Given the description of an element on the screen output the (x, y) to click on. 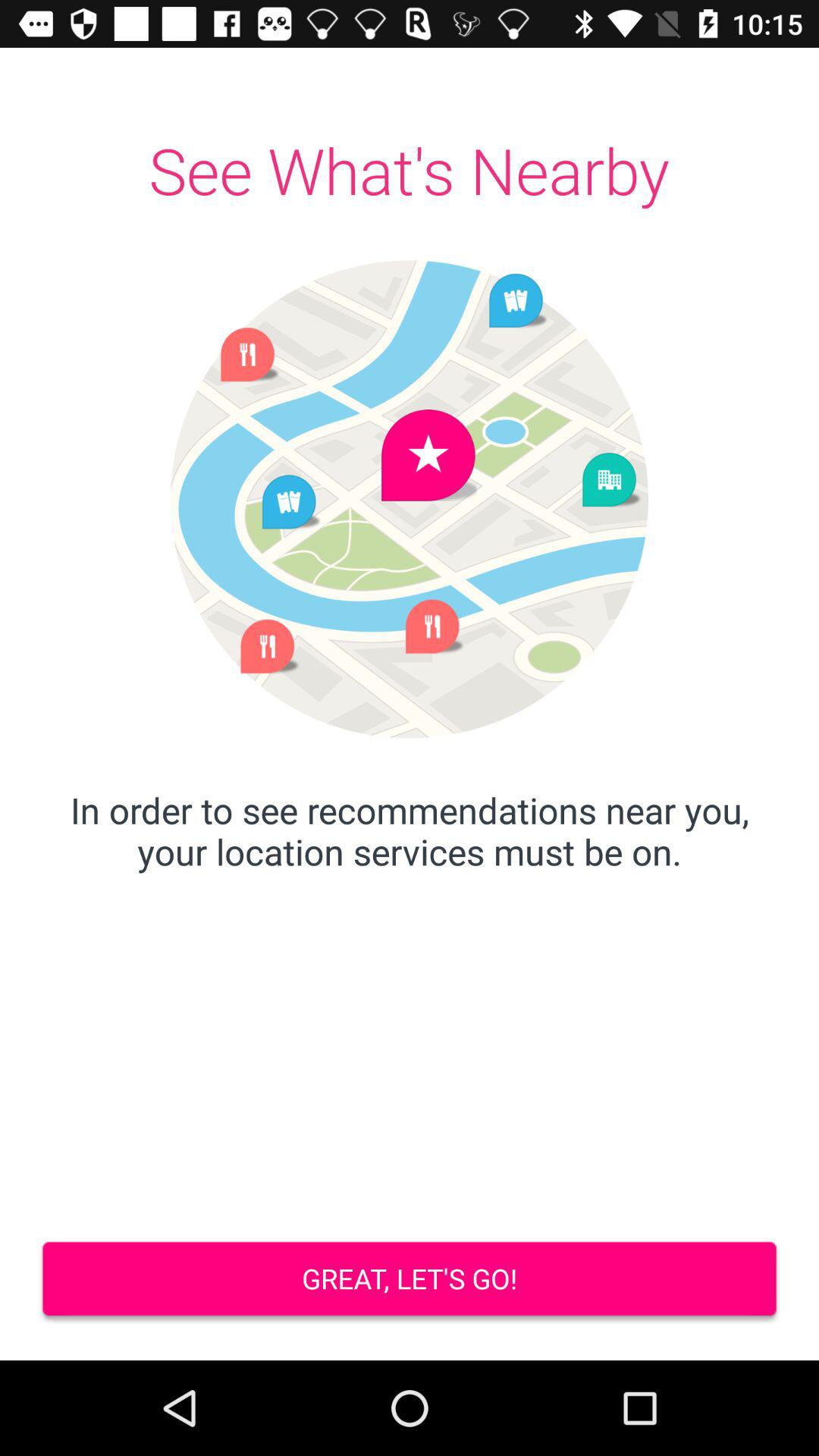
open icon below the in order to icon (409, 1280)
